Given the description of an element on the screen output the (x, y) to click on. 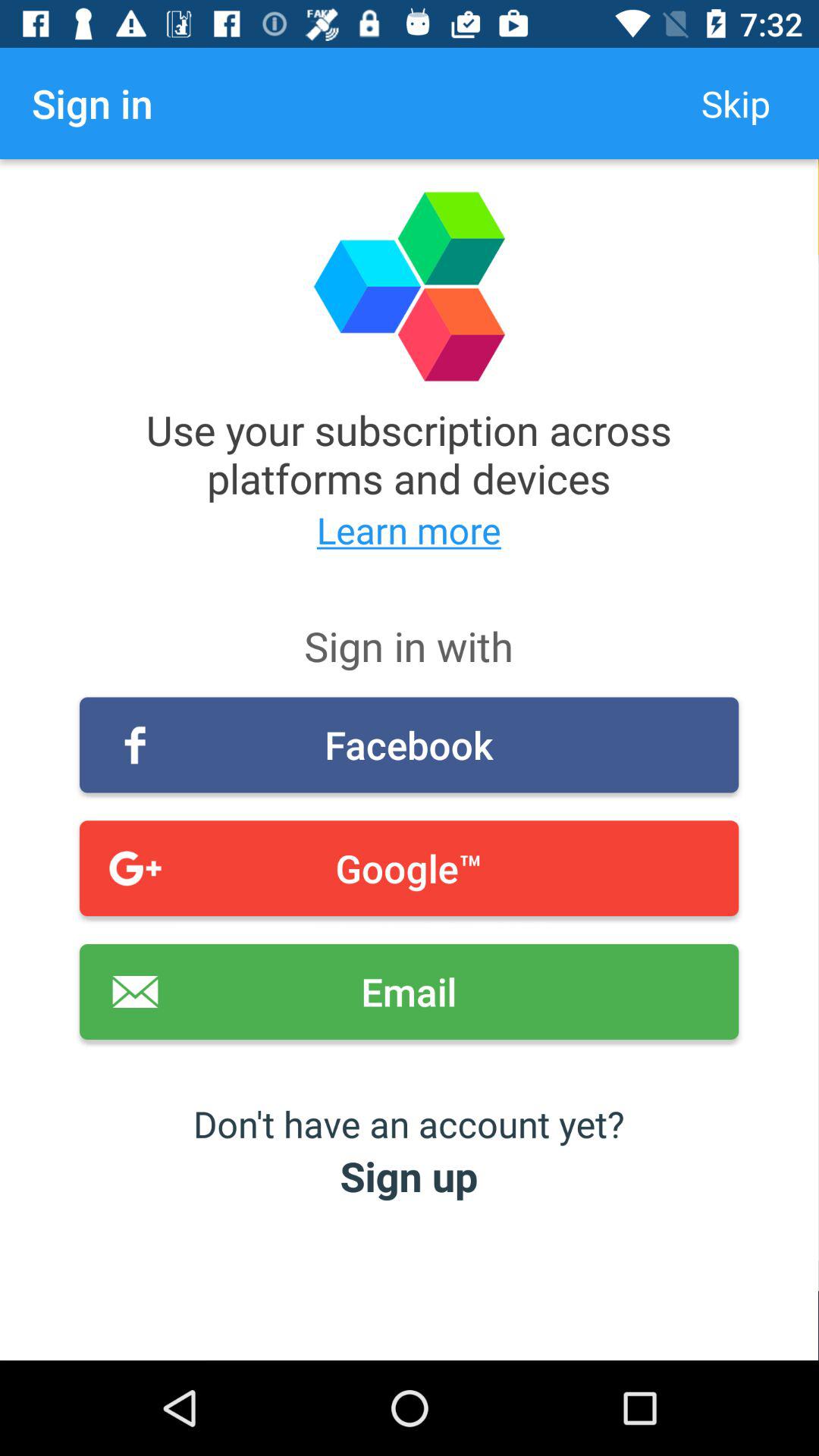
flip to the sign up (409, 1175)
